Given the description of an element on the screen output the (x, y) to click on. 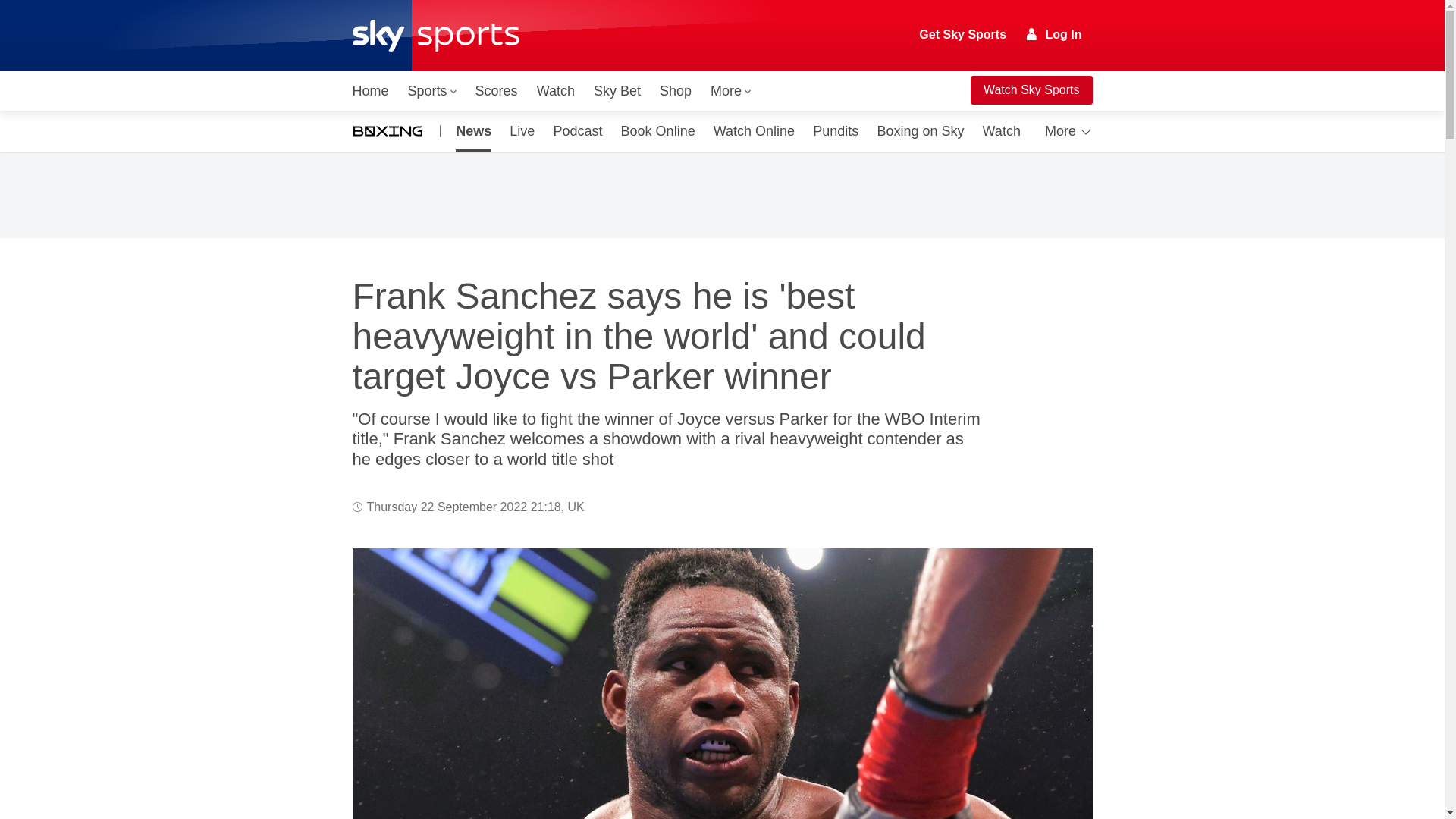
More (730, 91)
News (470, 130)
Get Sky Sports (962, 34)
Sky Bet (616, 91)
Shop (675, 91)
Sports (432, 91)
Home (369, 91)
Scores (496, 91)
Watch (555, 91)
Watch Sky Sports (1032, 90)
